Given the description of an element on the screen output the (x, y) to click on. 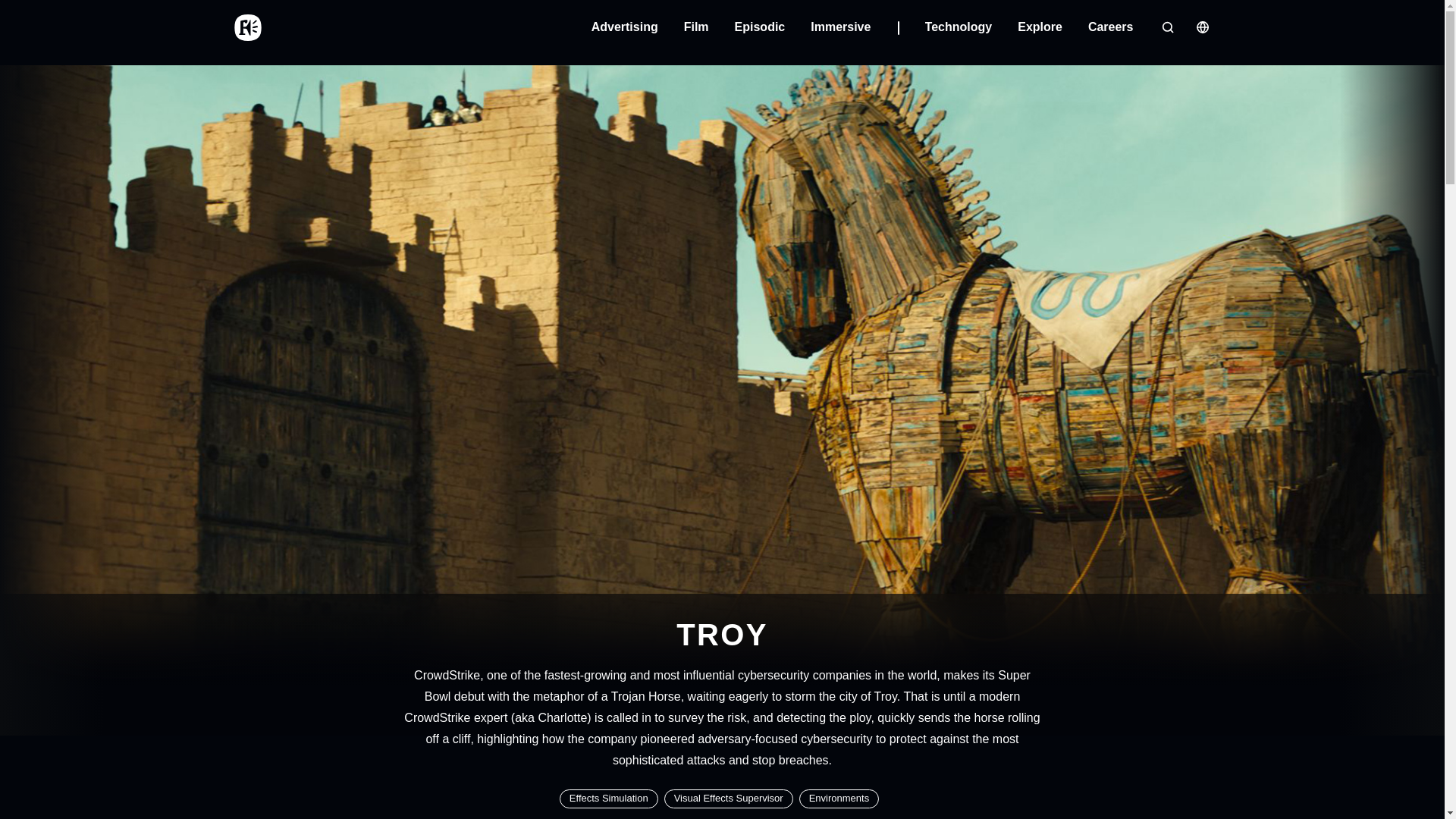
Languages (1201, 27)
Advertising (624, 26)
Immersive (854, 26)
Search (1166, 27)
Home (246, 27)
Technology (958, 26)
Episodic (760, 26)
Film (696, 26)
